Given the description of an element on the screen output the (x, y) to click on. 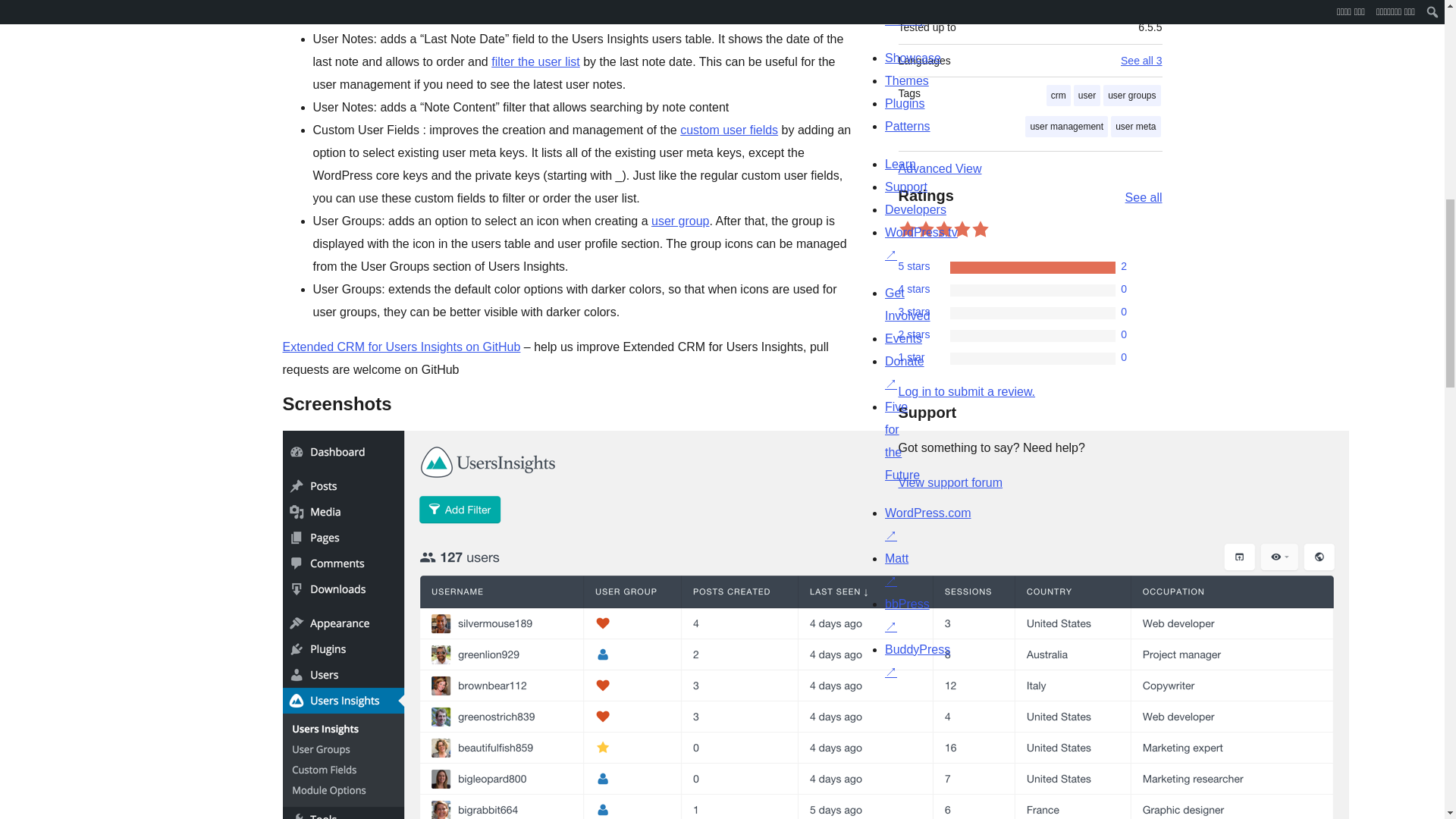
WordPress.org (1014, 703)
Extended CRM for Users Insights on GitHub (400, 346)
filter the user list (535, 61)
user group (680, 220)
WordPress.org (864, 703)
custom user fields (728, 129)
Log in to WordPress.org (966, 391)
